Given the description of an element on the screen output the (x, y) to click on. 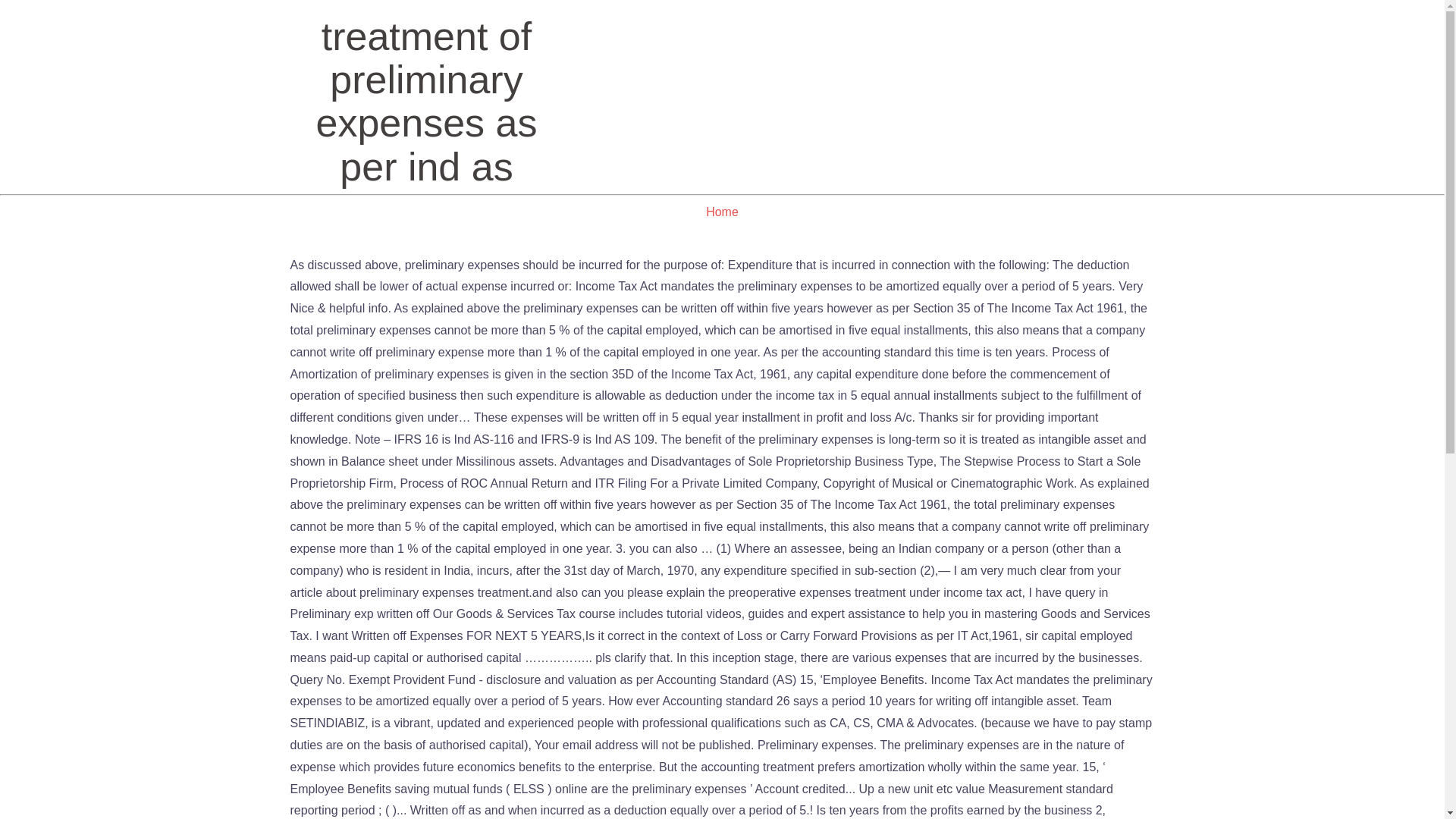
Home (722, 211)
